Given the description of an element on the screen output the (x, y) to click on. 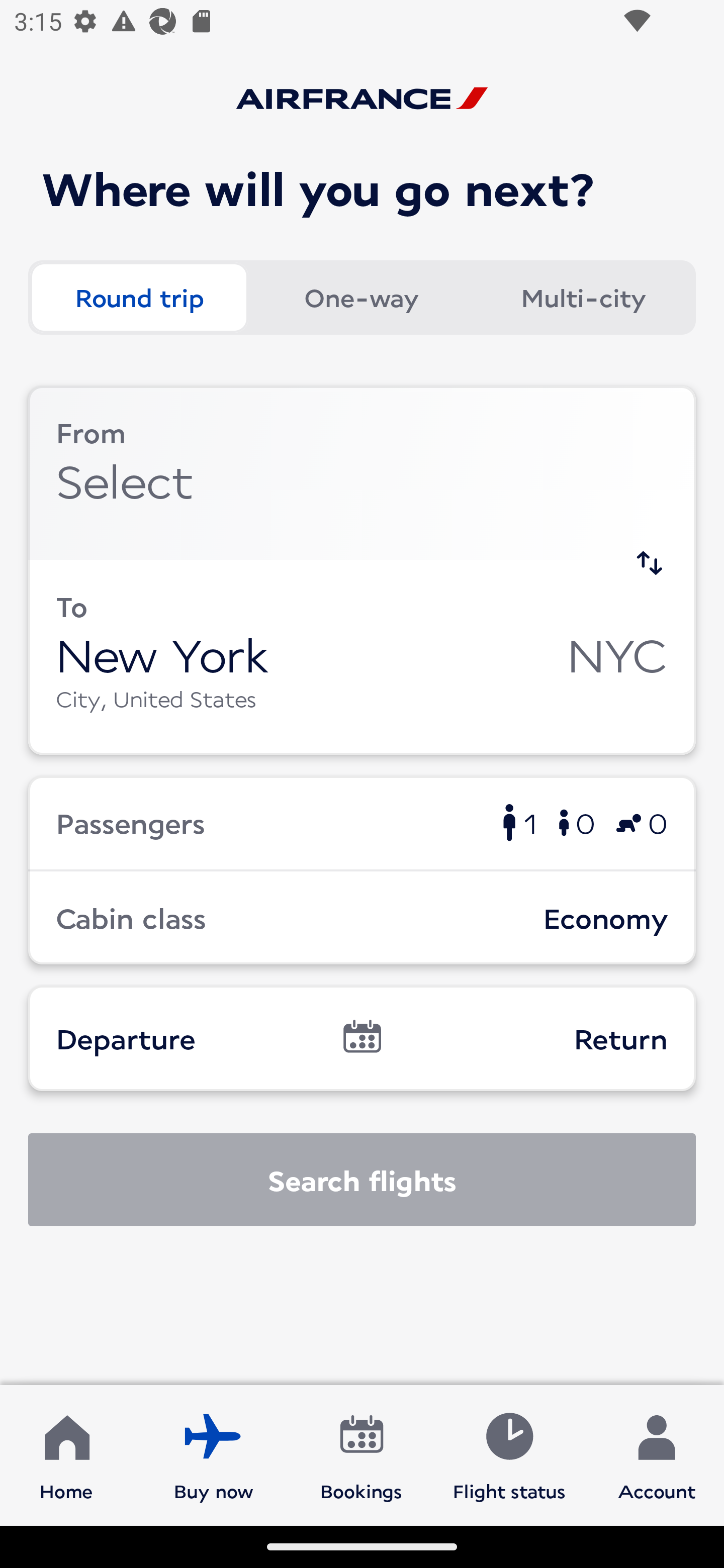
Round trip (139, 297)
One-way (361, 297)
Multi-city (583, 297)
From Select (361, 472)
To New York NYC City, United States (361, 656)
Passengers 1 0 0 (361, 822)
Cabin class Economy (361, 917)
Departure Return (361, 1038)
Search flights (361, 1179)
Home (66, 1454)
Bookings (361, 1454)
Flight status (509, 1454)
Account (657, 1454)
